Given the description of an element on the screen output the (x, y) to click on. 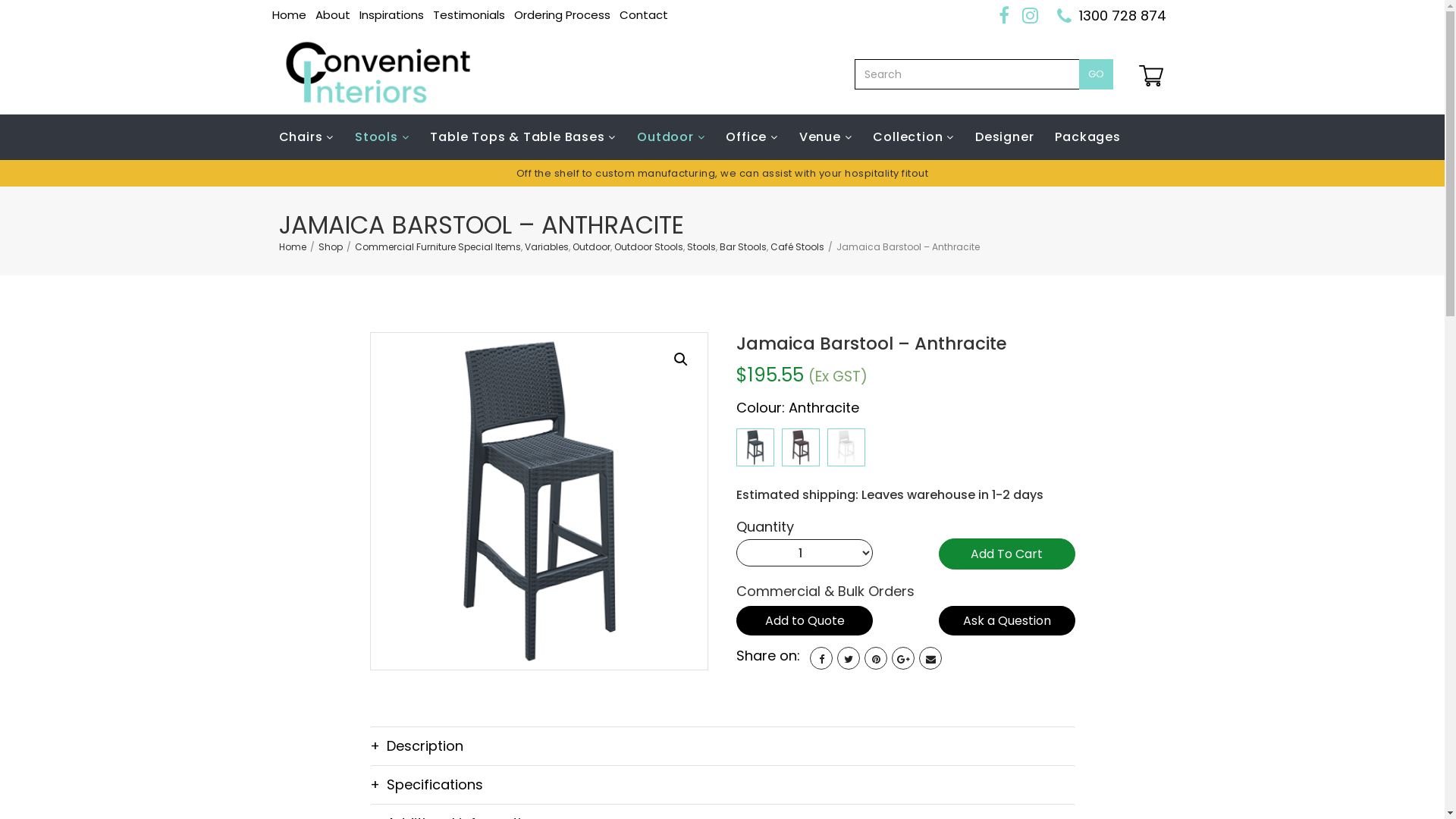
Commercial Furniture Special Items Element type: text (437, 246)
Collection Element type: text (913, 137)
Bar Stools Element type: text (741, 246)
Outdoor Element type: text (670, 137)
Chairs Element type: text (311, 137)
Stools Element type: text (701, 246)
Stools Element type: text (381, 137)
Contact Element type: text (642, 15)
Variables Element type: text (546, 246)
Add to Quote Element type: text (804, 620)
Table Tops & Table Bases Element type: text (522, 137)
Office Element type: text (751, 137)
Ordering Process Element type: text (562, 15)
Venue Element type: text (825, 137)
Inspirations Element type: text (391, 15)
Packages Element type: text (1087, 137)
Shop Element type: text (330, 246)
Home Element type: text (292, 246)
Submit Element type: text (722, 616)
Jamaica Barstool - White Element type: hover (846, 447)
Home Element type: text (288, 15)
Testimonials Element type: text (467, 15)
Outdoor Stools Element type: text (648, 246)
Jamaica Barstool - Anthracite Element type: hover (539, 501)
About Element type: text (332, 15)
Add To Cart Element type: text (1006, 553)
Submit Element type: text (722, 583)
Outdoor Element type: text (590, 246)
Designer Element type: text (1004, 137)
Jamaica Barstool - Chocolate Element type: hover (800, 447)
Ask a Question Element type: text (1006, 620)
1300 728 874 Element type: text (1121, 15)
GO Element type: text (1095, 74)
facebook Element type: hover (820, 657)
